Given the description of an element on the screen output the (x, y) to click on. 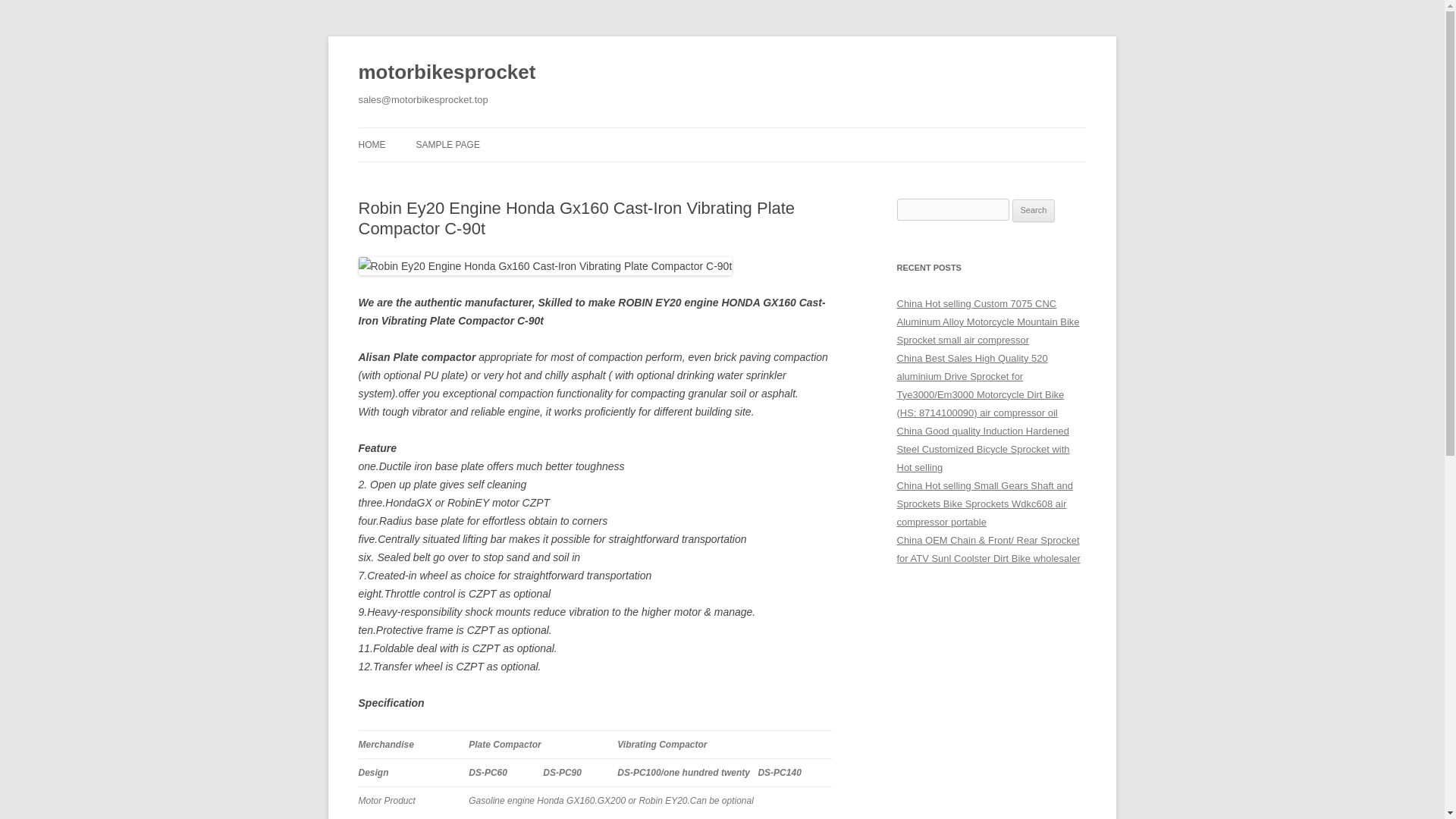
motorbikesprocket (446, 72)
SAMPLE PAGE (446, 144)
motorbikesprocket (446, 72)
Search (1033, 210)
Search (1033, 210)
